Given the description of an element on the screen output the (x, y) to click on. 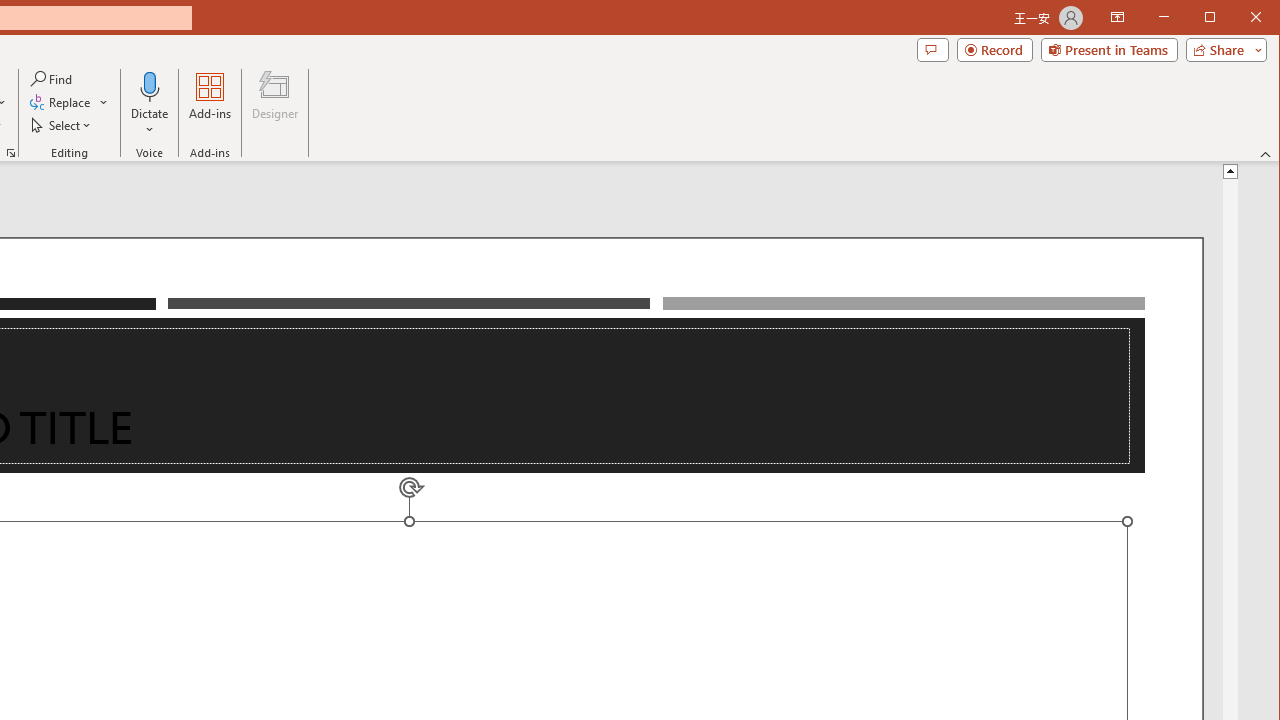
Designer (274, 104)
Dictate (150, 104)
Format Object... (10, 152)
Line up (1230, 170)
